Given the description of an element on the screen output the (x, y) to click on. 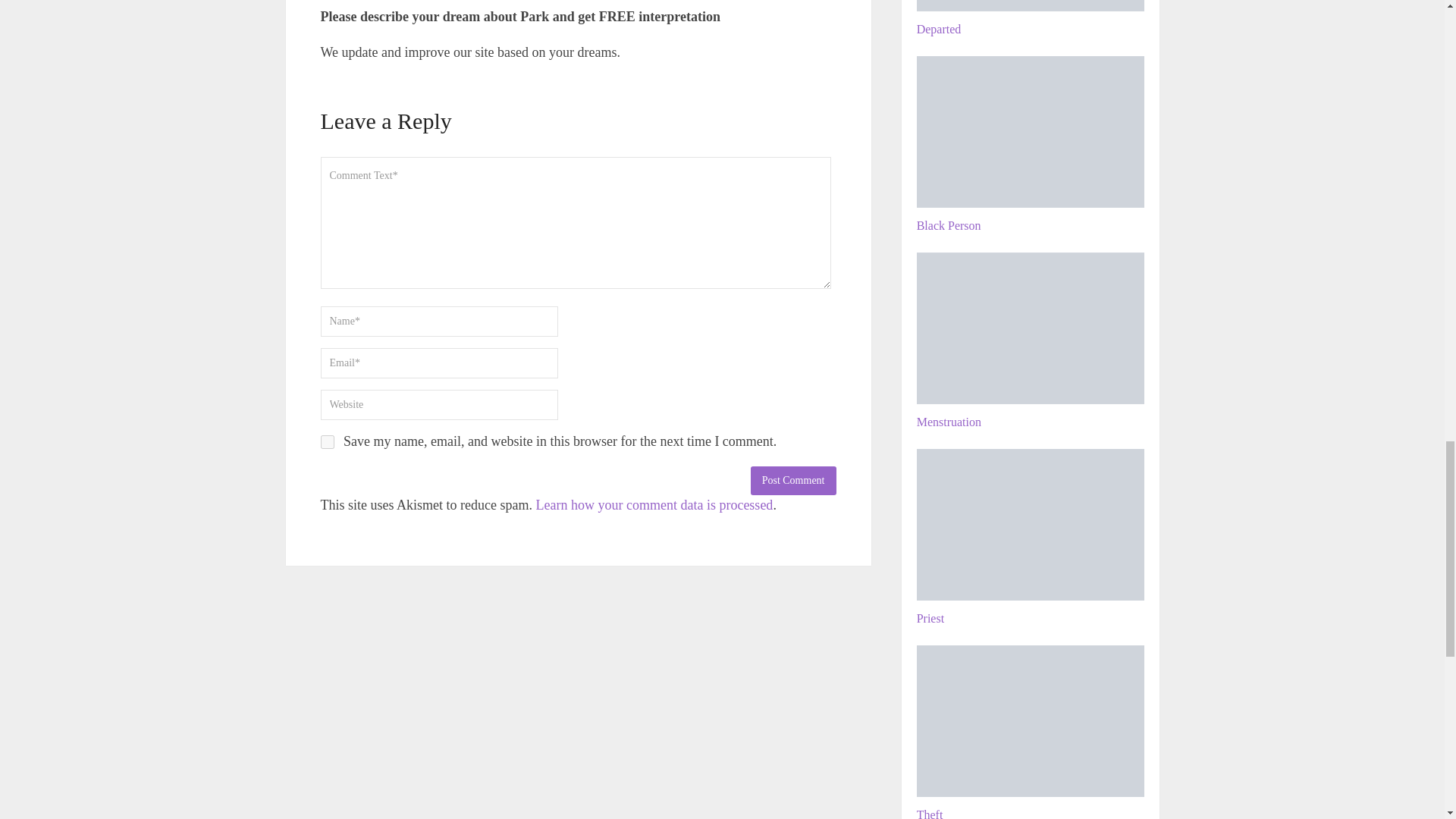
Post Comment (793, 480)
yes (326, 441)
